Given the description of an element on the screen output the (x, y) to click on. 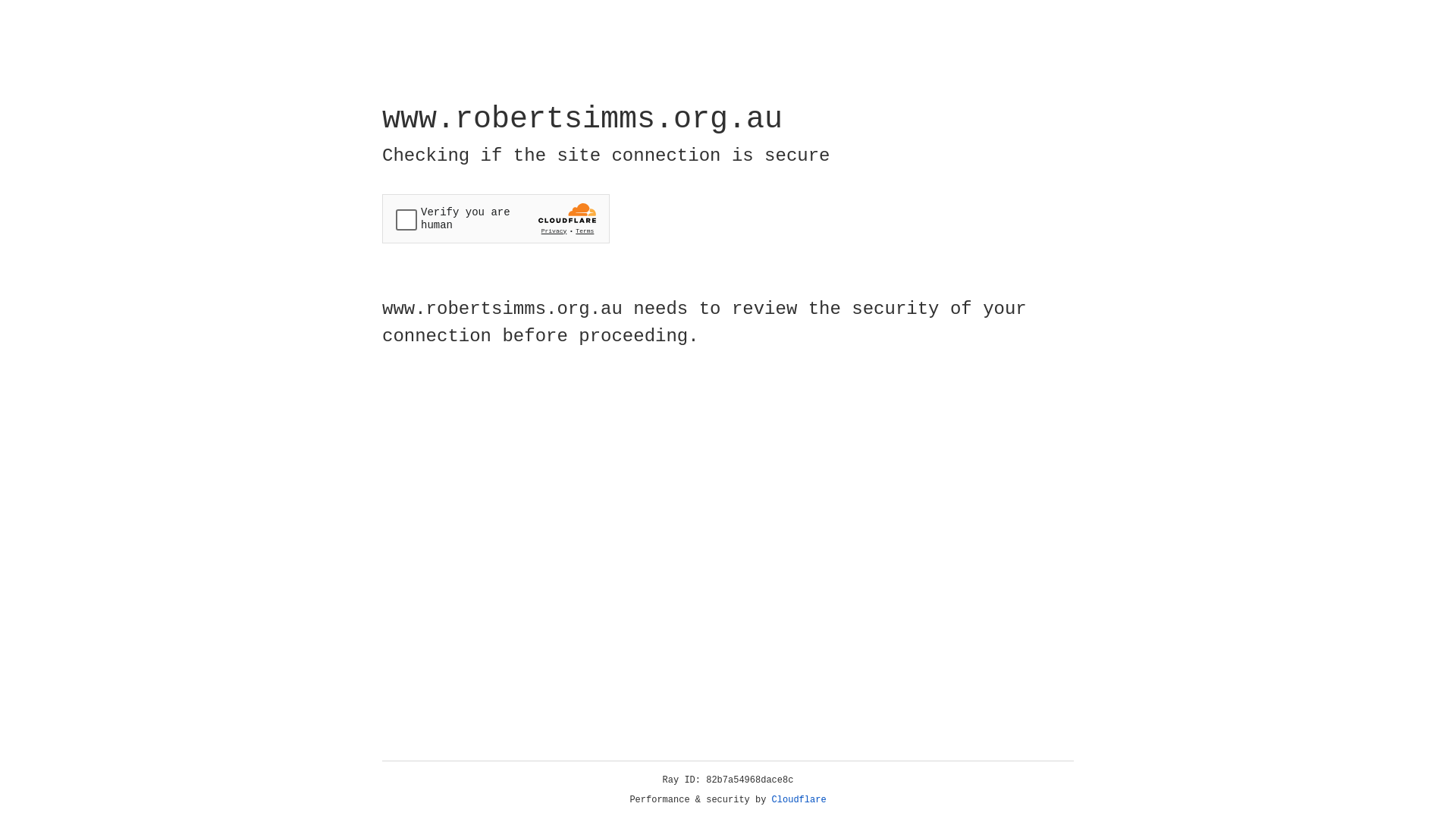
Cloudflare Element type: text (798, 799)
Widget containing a Cloudflare security challenge Element type: hover (495, 218)
